Given the description of an element on the screen output the (x, y) to click on. 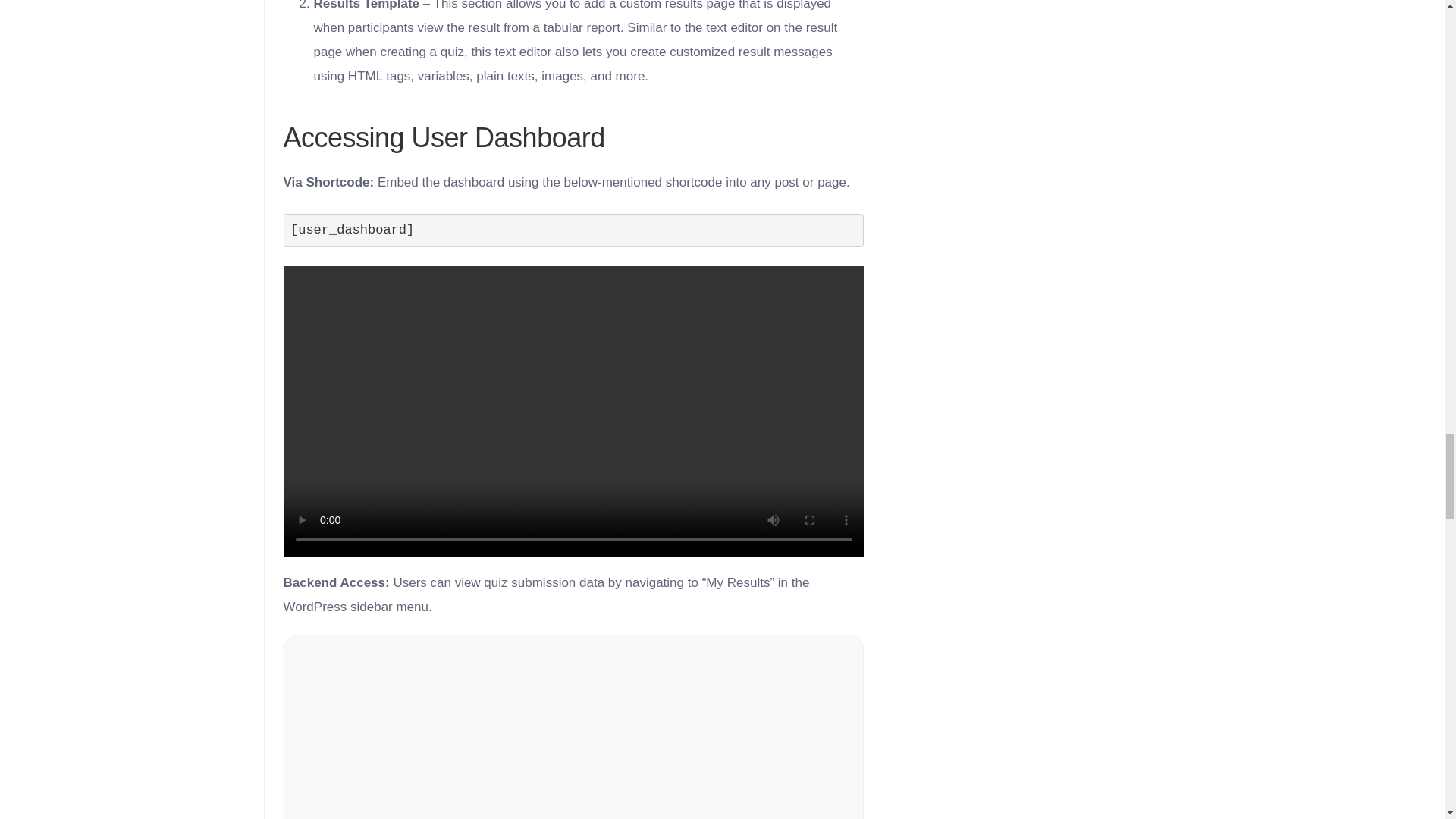
User Dashboard (573, 726)
